Given the description of an element on the screen output the (x, y) to click on. 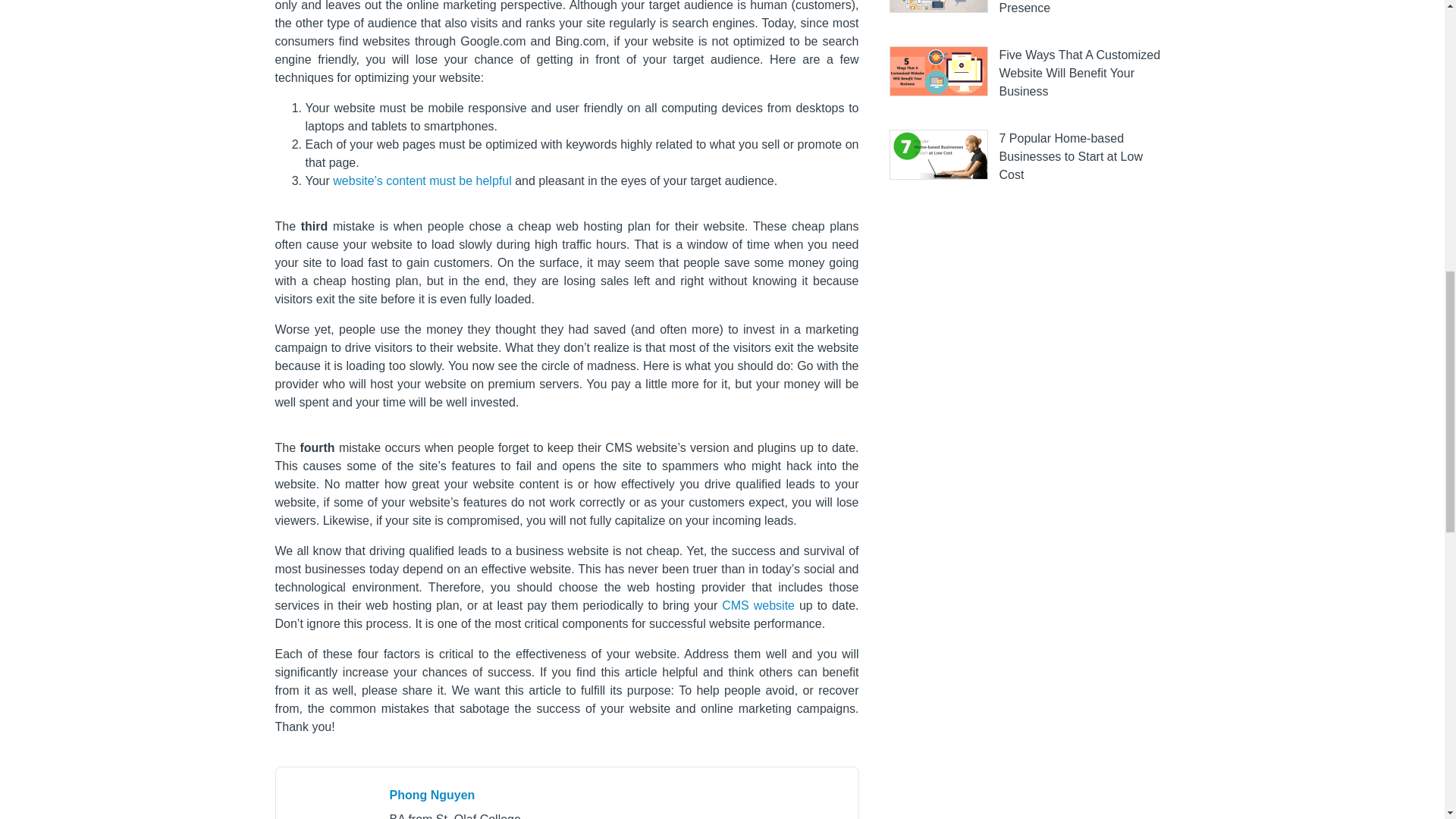
Key Elements To Establish An Effective Business Web Presence (1079, 7)
Phong Nguyen (433, 794)
CMS website (758, 604)
7 Popular Home-based Businesses to Start at Low Cost (1070, 155)
